Given the description of an element on the screen output the (x, y) to click on. 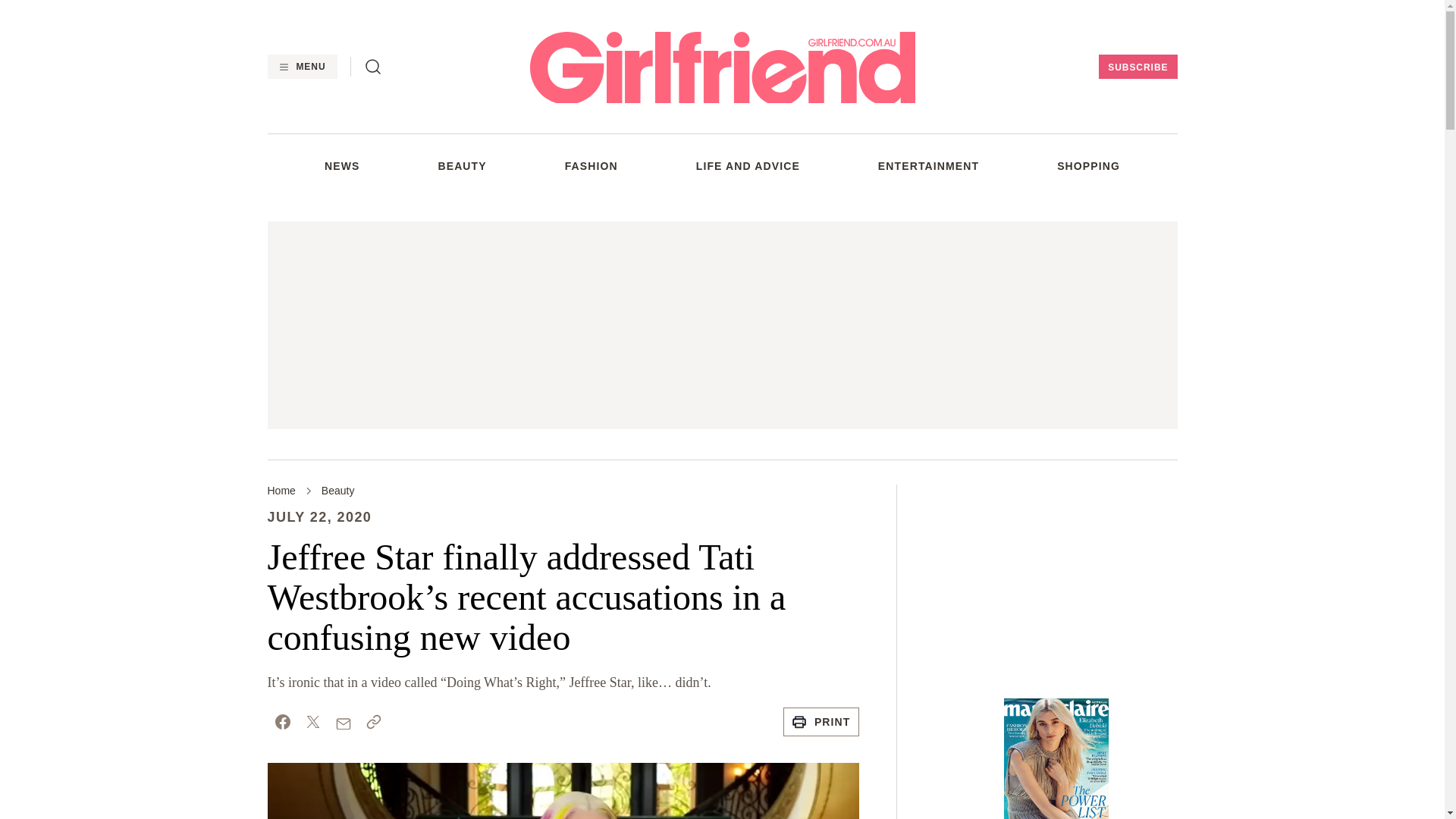
MENU (301, 66)
FASHION (590, 165)
SHOPPING (1088, 165)
BEAUTY (462, 165)
NEWS (341, 165)
ENTERTAINMENT (927, 165)
SUBSCRIBE (1137, 66)
LIFE AND ADVICE (747, 165)
